Given the description of an element on the screen output the (x, y) to click on. 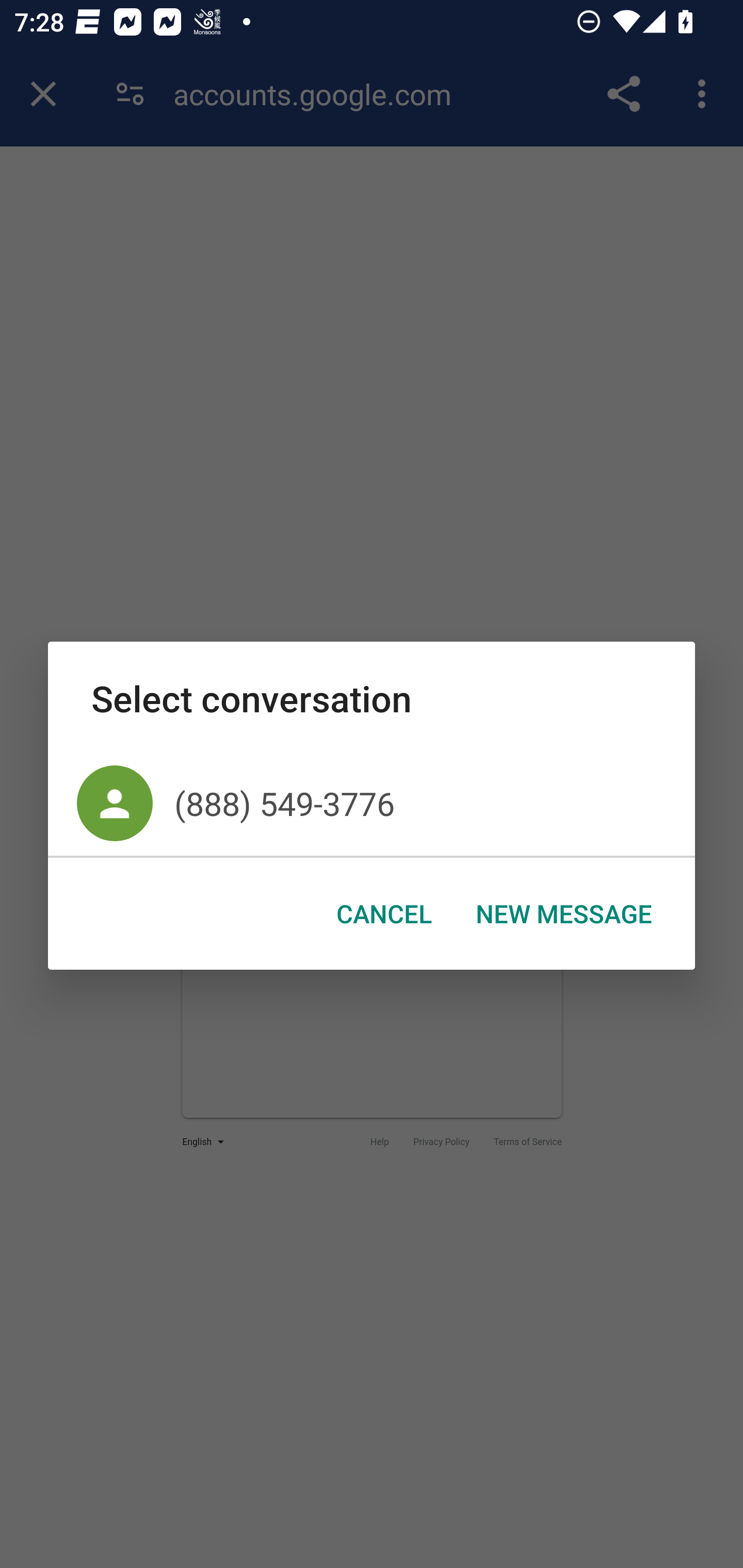
CANCEL (384, 913)
NEW MESSAGE (563, 913)
